Given the description of an element on the screen output the (x, y) to click on. 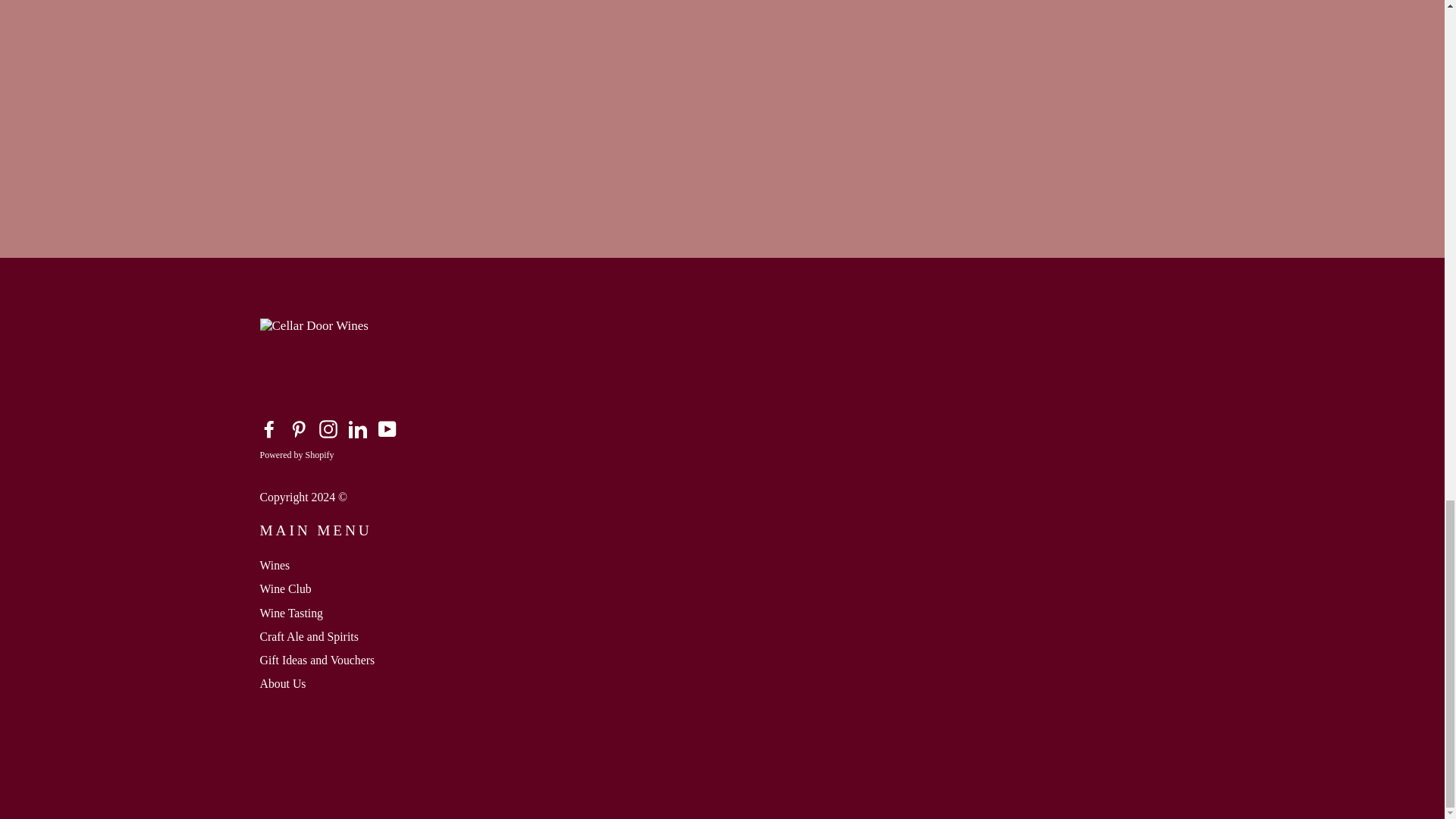
Cellar Door Wines on Facebook (268, 429)
Cellar Door Wines on Instagram (327, 429)
Cellar Door Wines on Pinterest (298, 429)
Cellar Door Wines on YouTube (386, 429)
Cellar Door Wines on LinkedIn (357, 429)
